Given the description of an element on the screen output the (x, y) to click on. 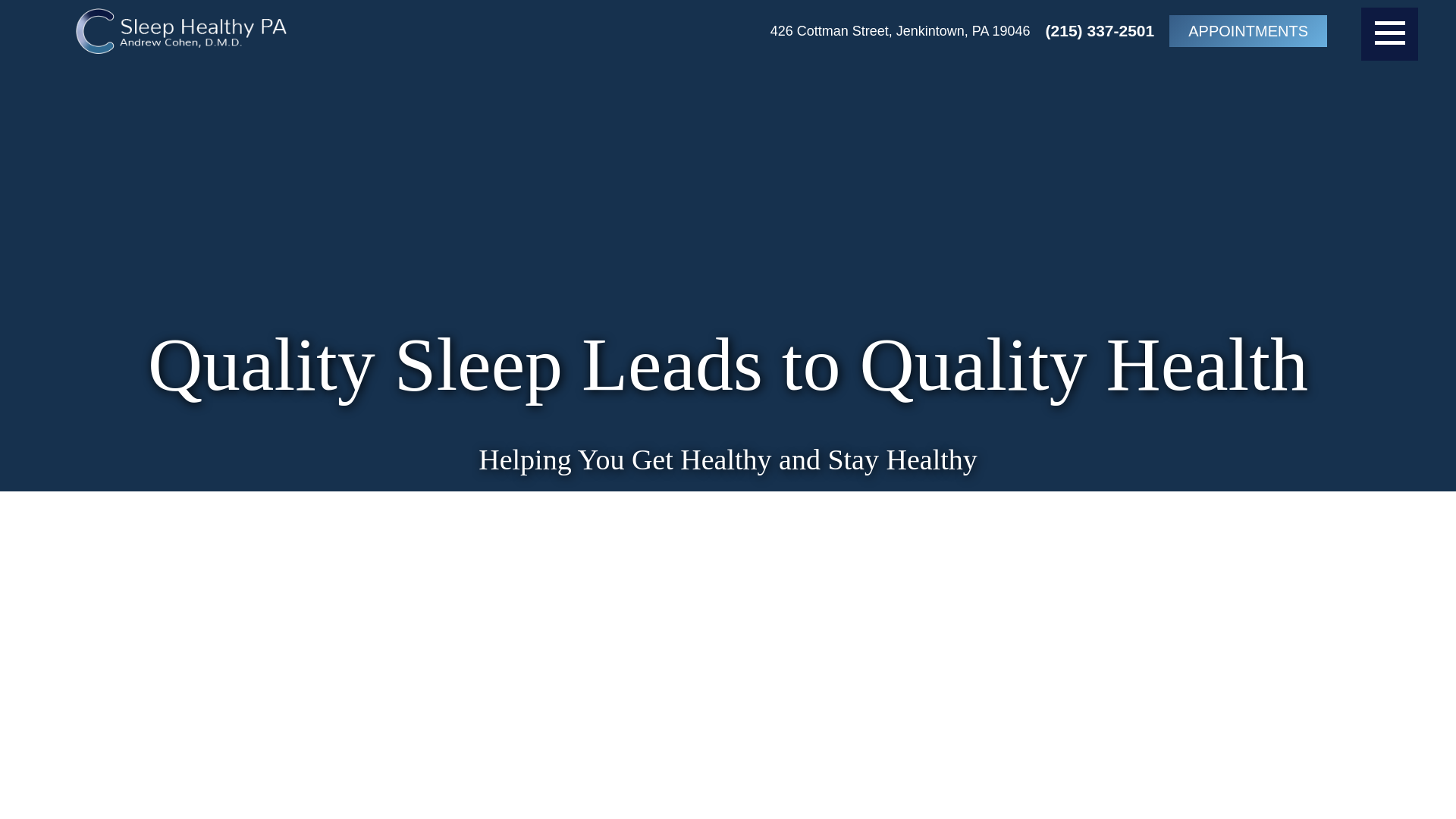
APPOINTMENTS (1247, 30)
